Given the description of an element on the screen output the (x, y) to click on. 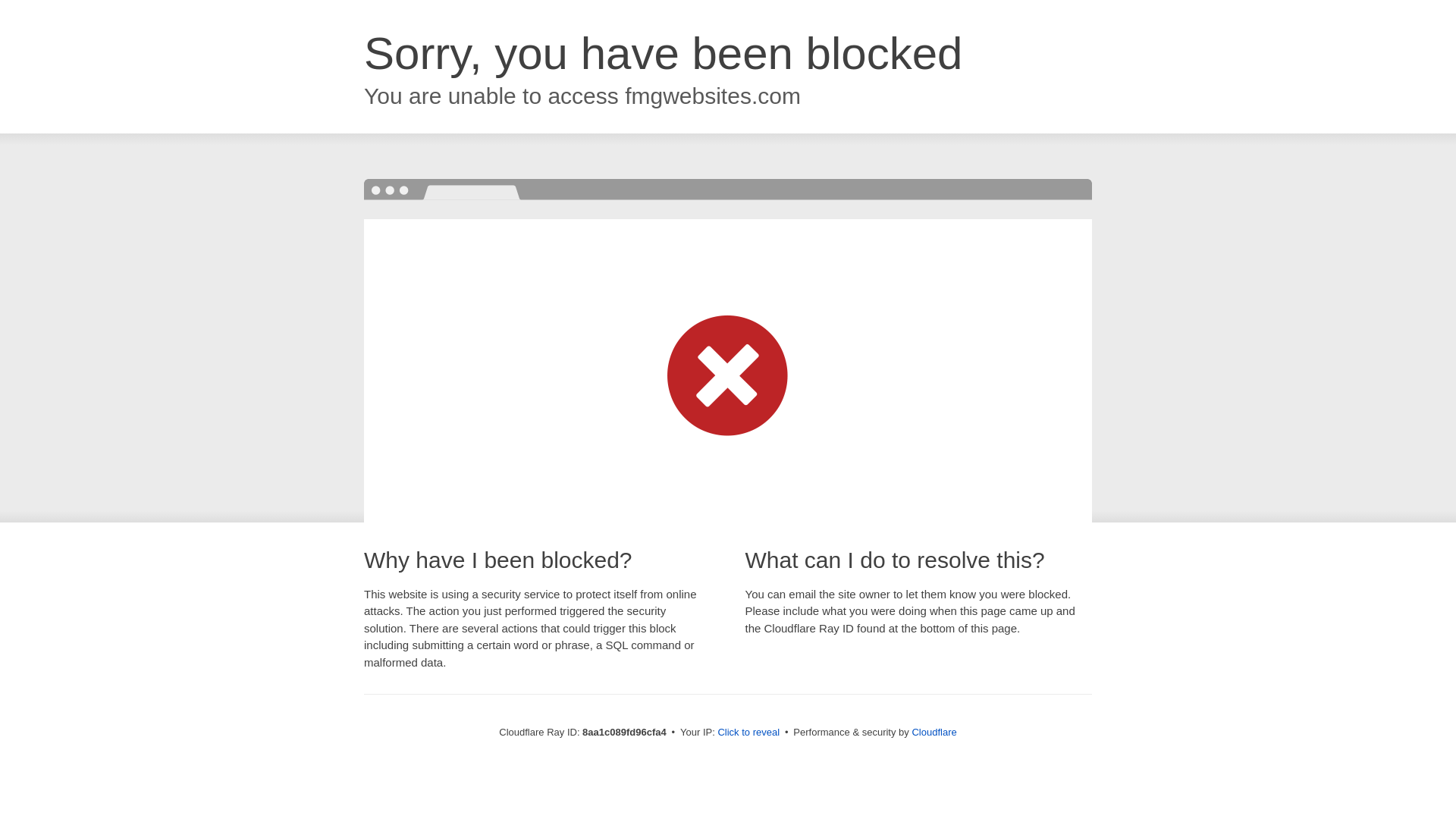
Click to reveal (747, 732)
Cloudflare (933, 731)
